Given the description of an element on the screen output the (x, y) to click on. 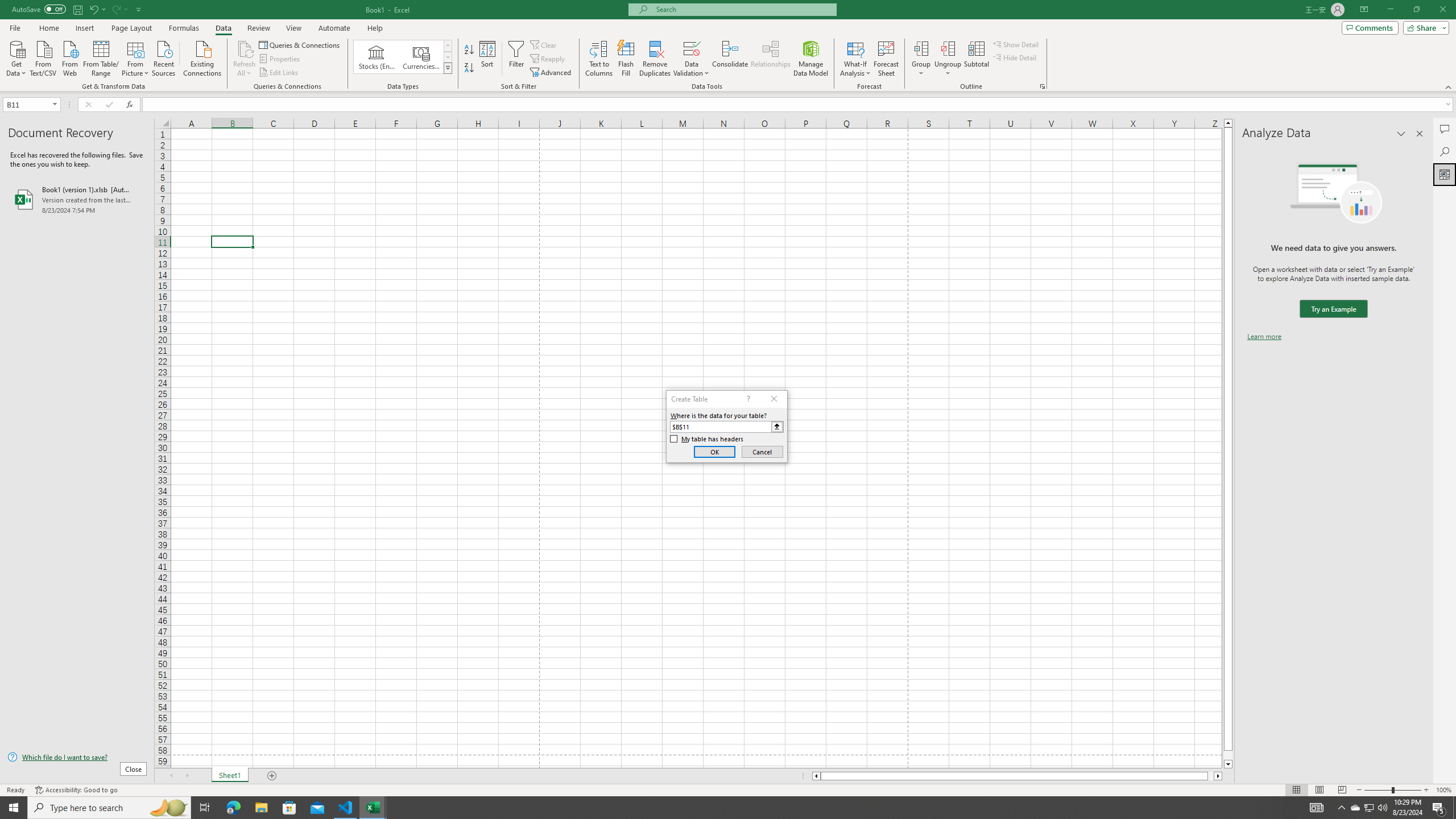
Consolidate... (729, 58)
We need data to give you answers. Try an Example (1333, 308)
